Given the description of an element on the screen output the (x, y) to click on. 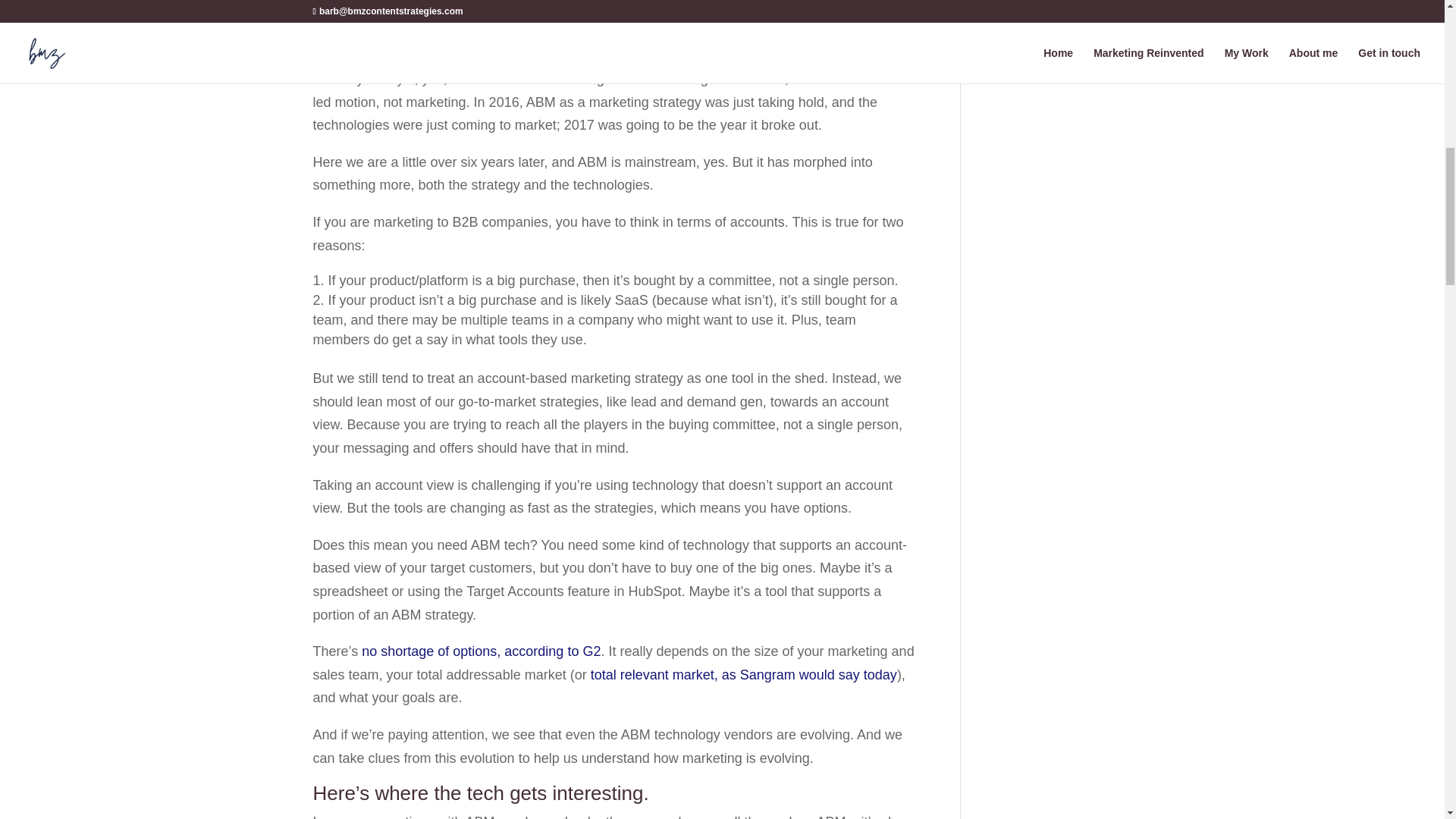
on account-based marketing (580, 1)
total relevant market, as Sangram would say today (743, 674)
no shortage of options, according to G2 (480, 651)
